Given the description of an element on the screen output the (x, y) to click on. 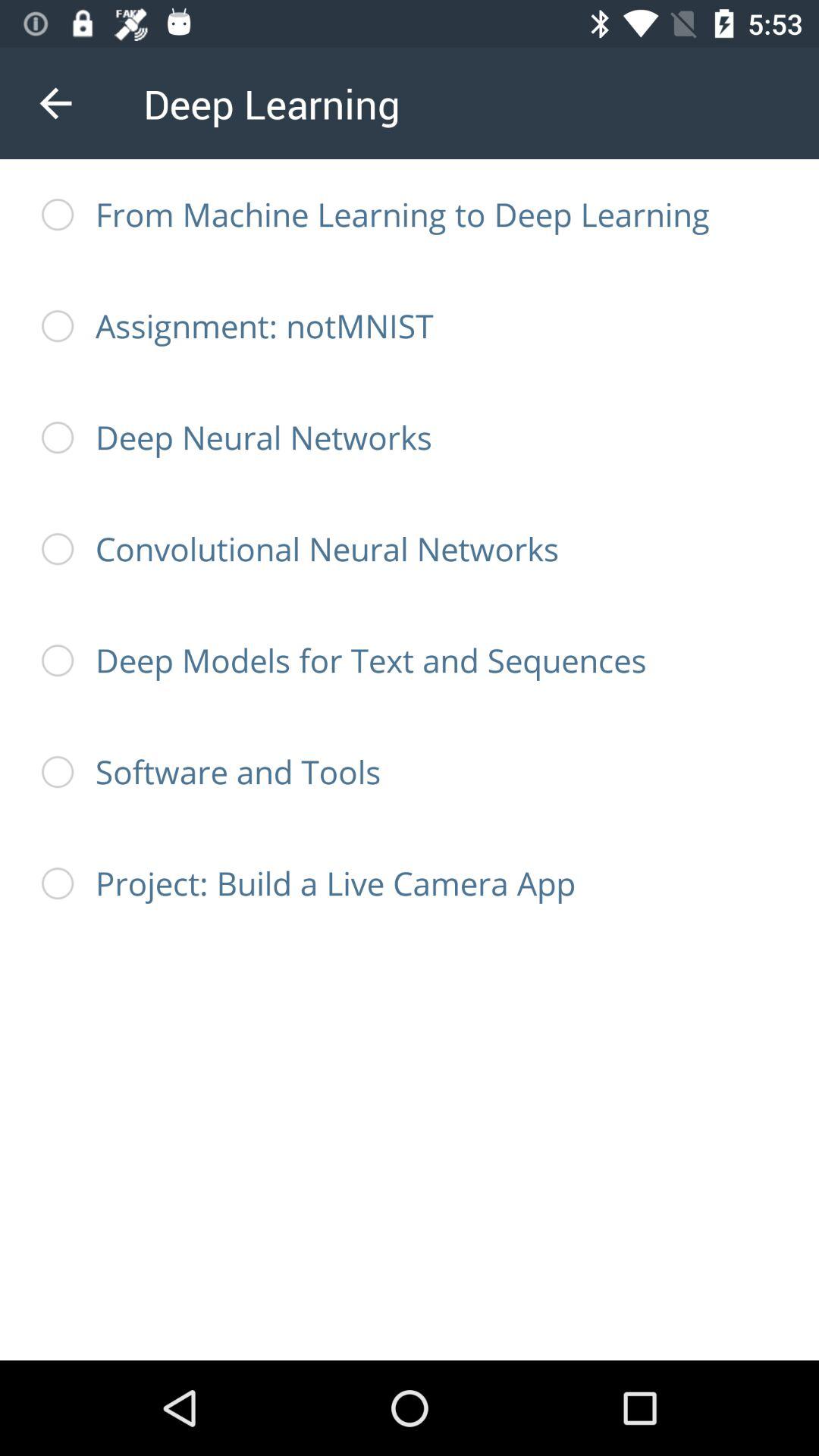
turn on the icon next to deep learning icon (55, 103)
